Given the description of an element on the screen output the (x, y) to click on. 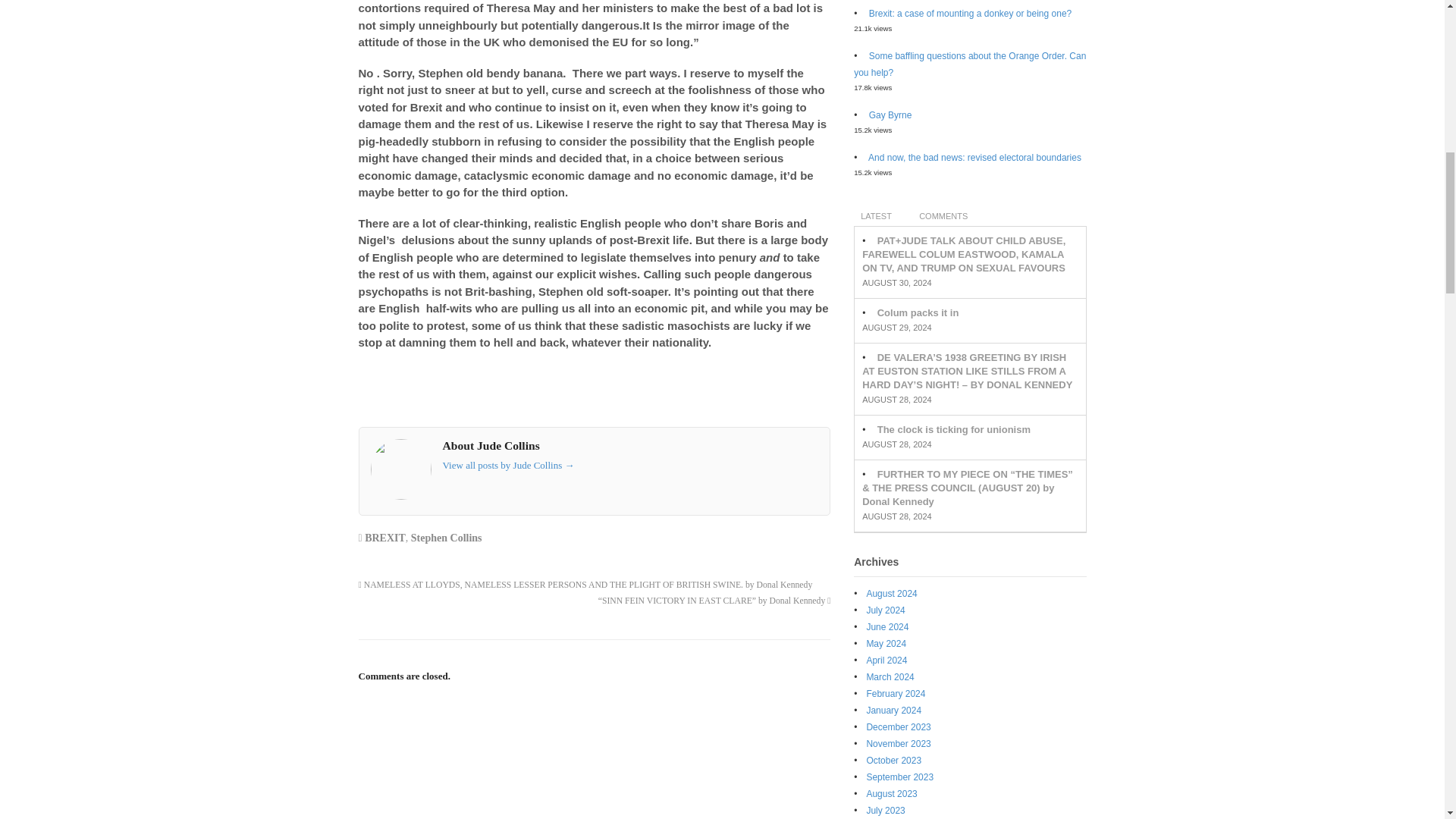
Gay Byrne (890, 114)
BREXIT (385, 537)
Stephen Collins (445, 537)
Colum packs it in (918, 312)
Colum packs it in (918, 312)
COMMENTS (943, 214)
The clock is ticking for unionism (953, 429)
LATEST (875, 214)
